Given the description of an element on the screen output the (x, y) to click on. 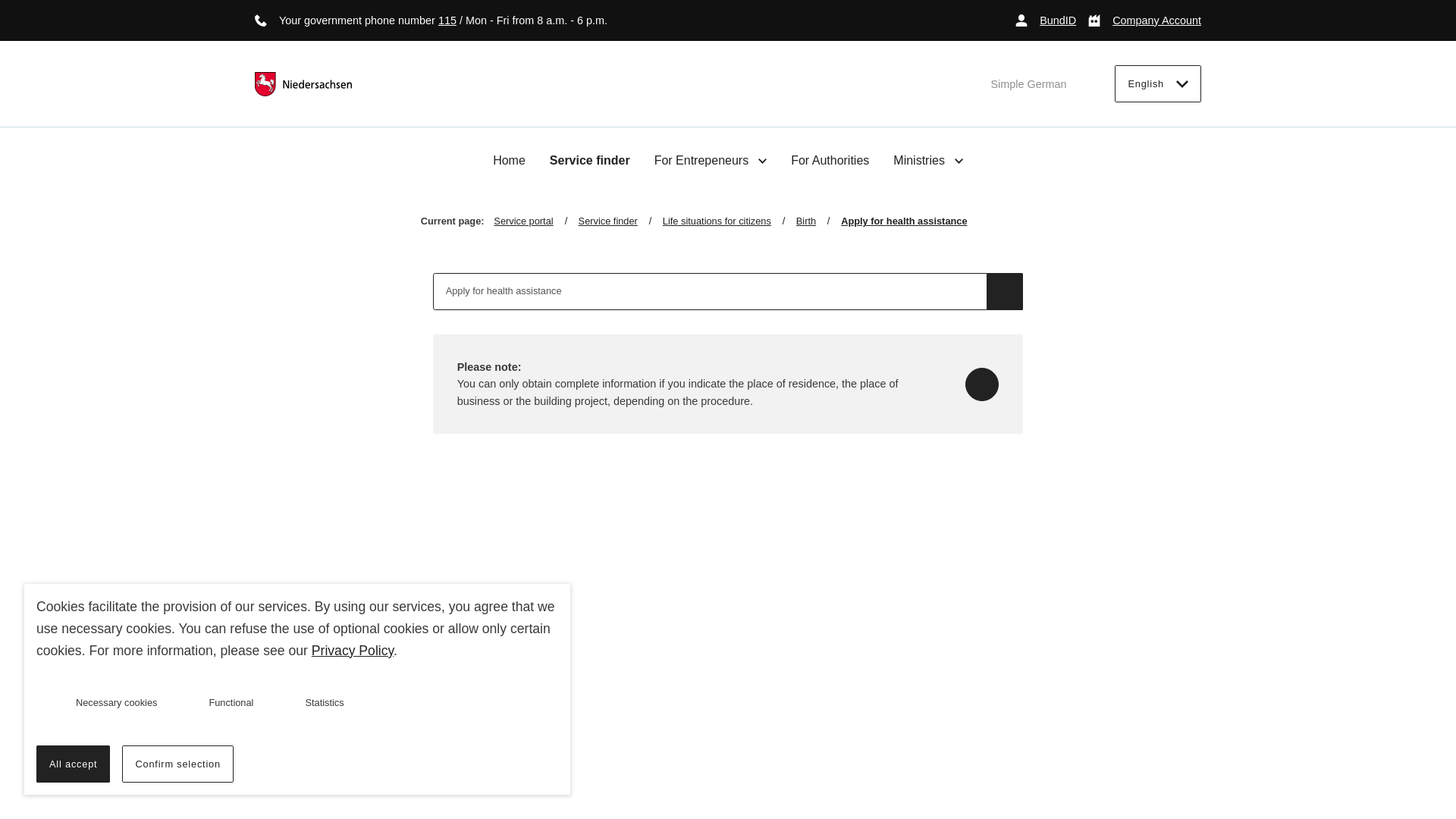
BundID (1044, 20)
BundID (1044, 20)
Service portal (535, 221)
Company Account (1144, 20)
115 (447, 20)
Service finder (590, 160)
Specify city or zip code (981, 384)
Home (509, 160)
Company Account (1144, 20)
Ministries (927, 160)
